Given the description of an element on the screen output the (x, y) to click on. 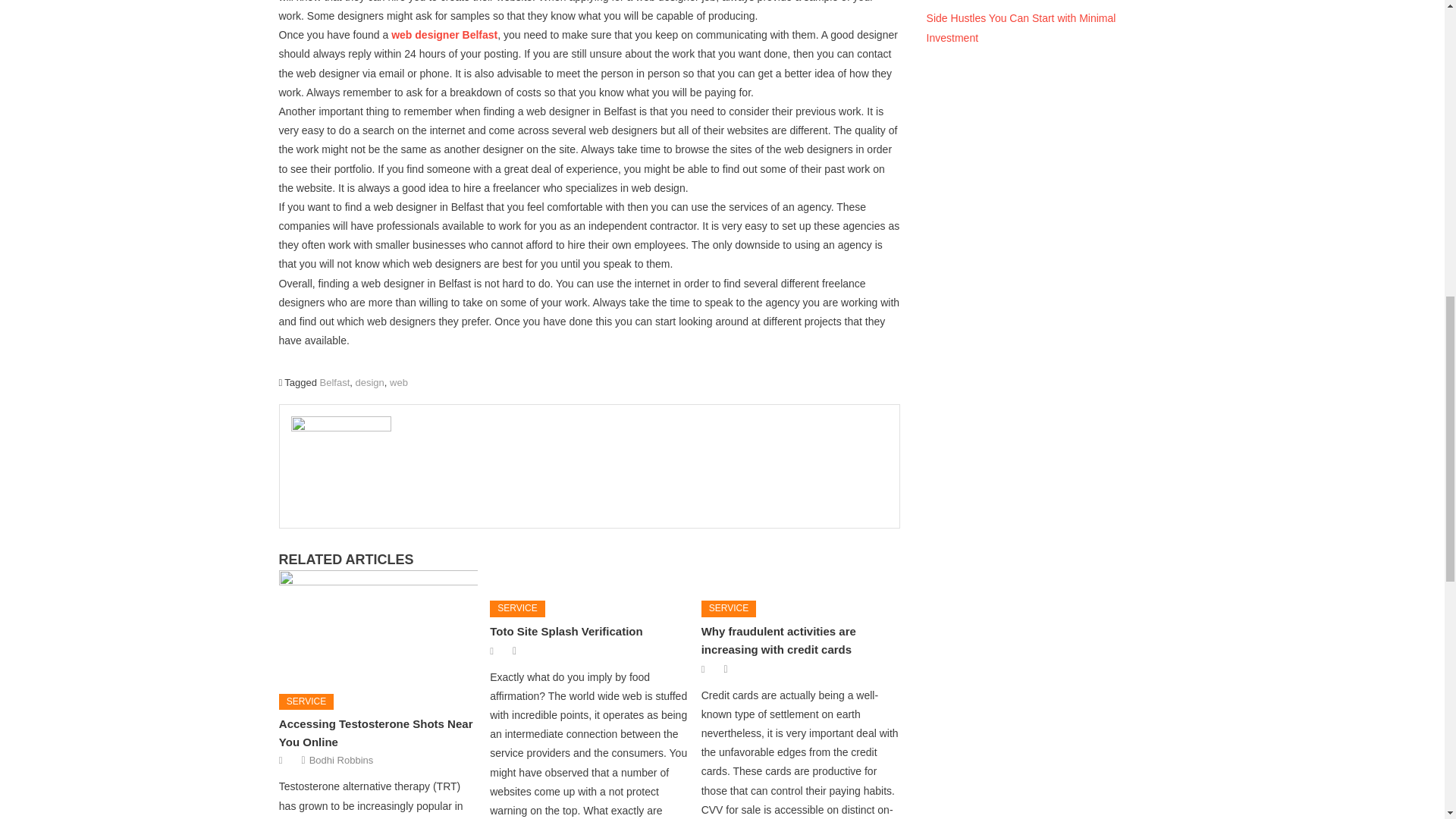
Bodhi Robbins (341, 760)
Accessing Testosterone Shots Near You Online (376, 732)
web designer Belfast (444, 34)
Toto Site Splash Verification (565, 631)
Toto Site Splash Verification (588, 579)
Accessing Testosterone Shots Near You Online (378, 626)
web (398, 382)
Why fraudulent activities are increasing with credit cards (800, 579)
SERVICE (516, 608)
design (369, 382)
